Given the description of an element on the screen output the (x, y) to click on. 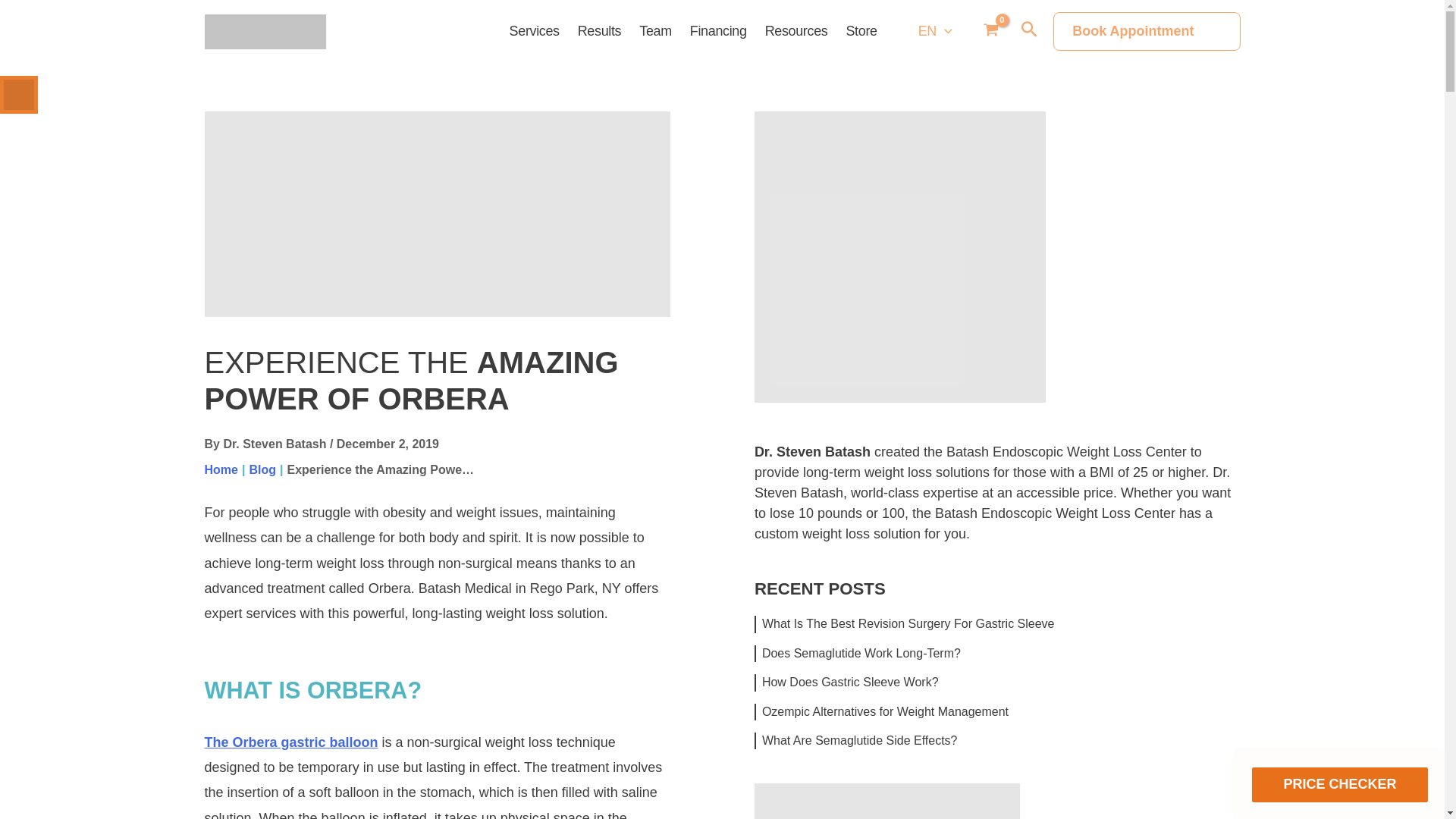
Book Appointment (1146, 31)
Services (534, 31)
Posts by Dr. Steven Batash (274, 443)
Team (655, 31)
Results (599, 31)
Financing (718, 31)
Resources (796, 31)
EN (934, 31)
